Given the description of an element on the screen output the (x, y) to click on. 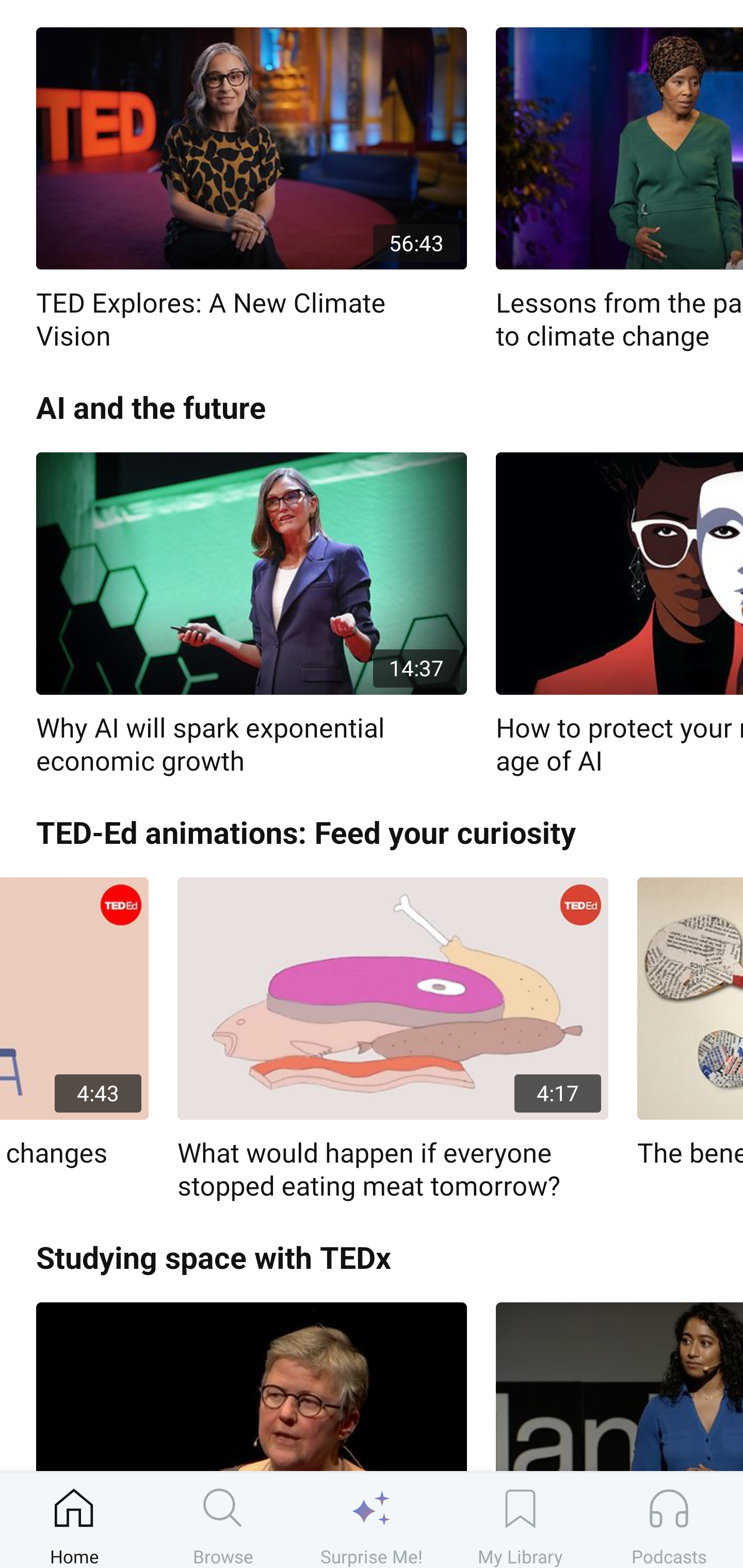
56:43 TED Explores: A New Climate Vision (251, 189)
How to protect your rights in the age of AI (619, 614)
Home (74, 1520)
Browse (222, 1520)
Surprise Me! (371, 1520)
My Library (519, 1520)
Podcasts (668, 1520)
